Given the description of an element on the screen output the (x, y) to click on. 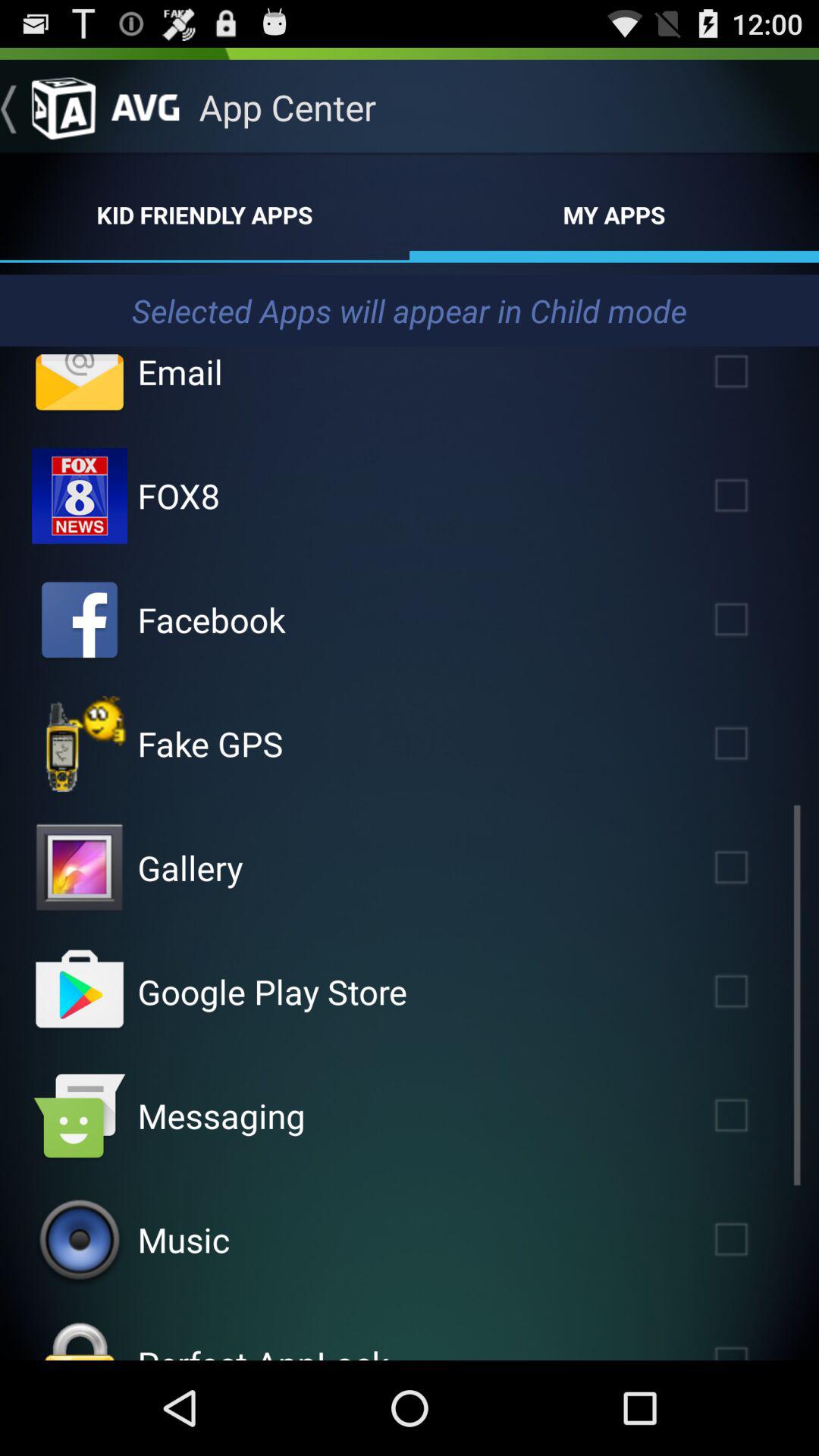
see the gallery (79, 867)
